Given the description of an element on the screen output the (x, y) to click on. 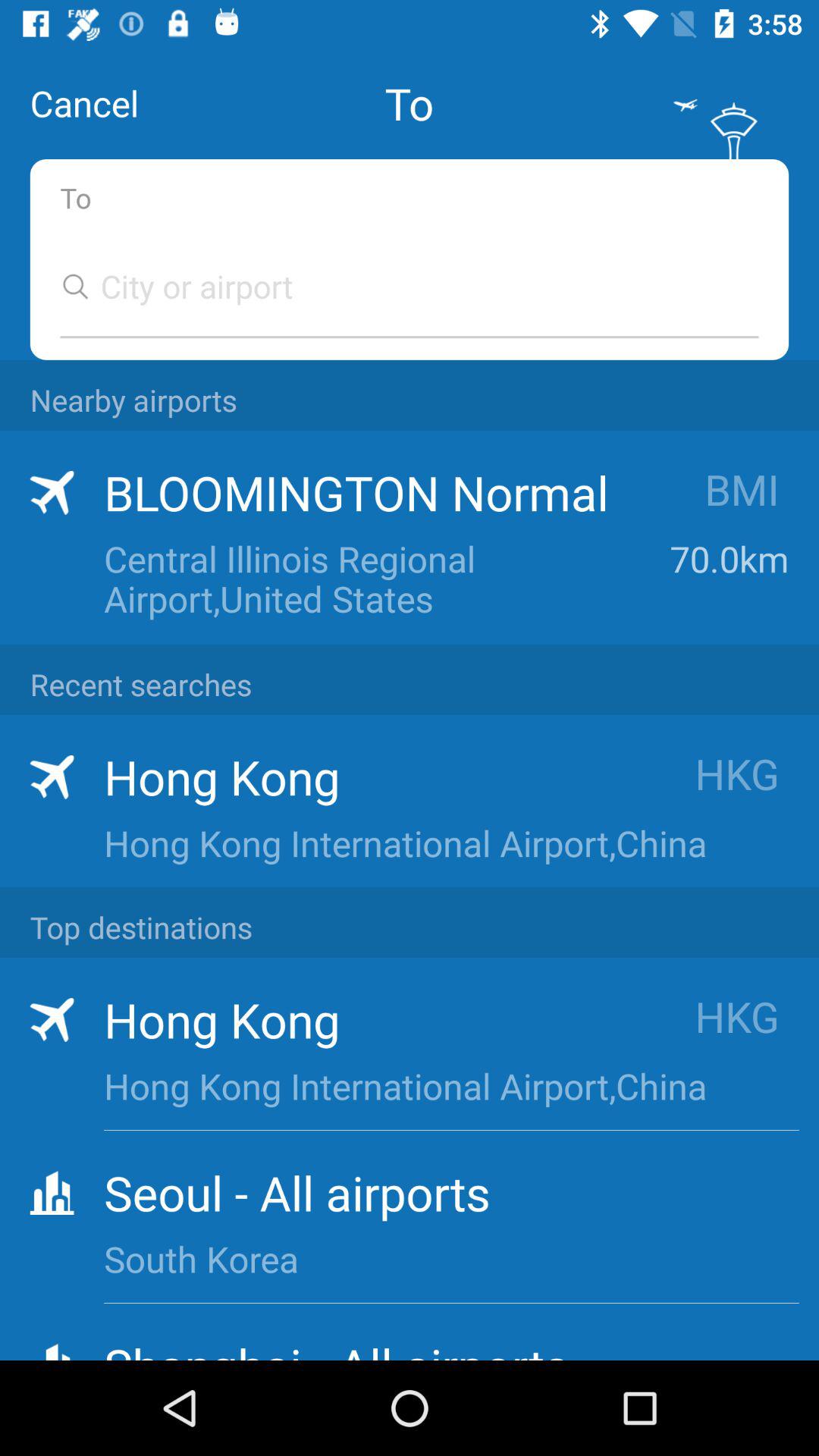
search location (394, 286)
